Given the description of an element on the screen output the (x, y) to click on. 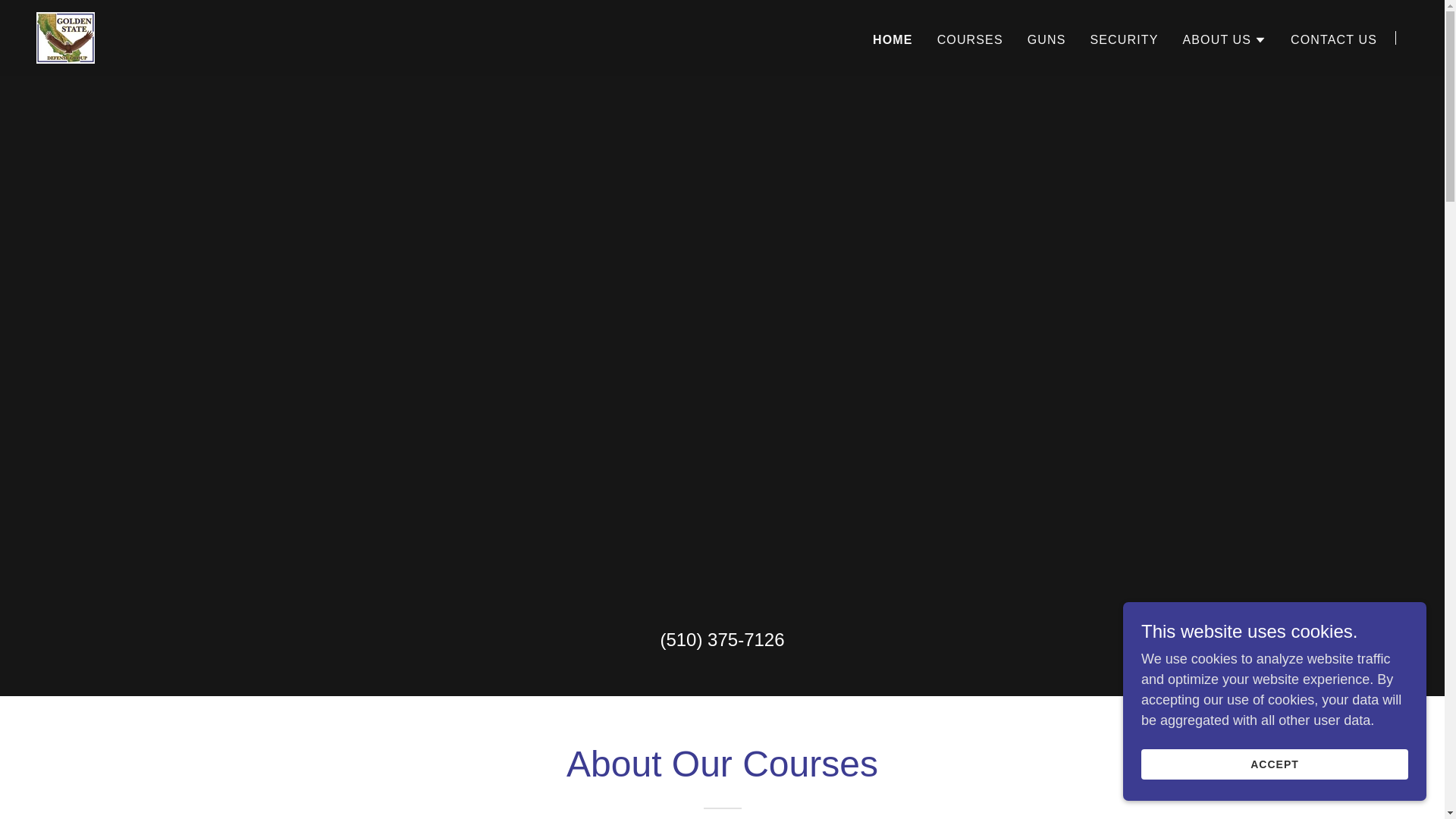
COURSES (970, 39)
CONTACT US (1333, 39)
ABOUT US (1224, 39)
Golden State Defense Group (65, 37)
GUNS (1046, 39)
HOME (892, 39)
ACCEPT (1274, 764)
SECURITY (1124, 39)
